Given the description of an element on the screen output the (x, y) to click on. 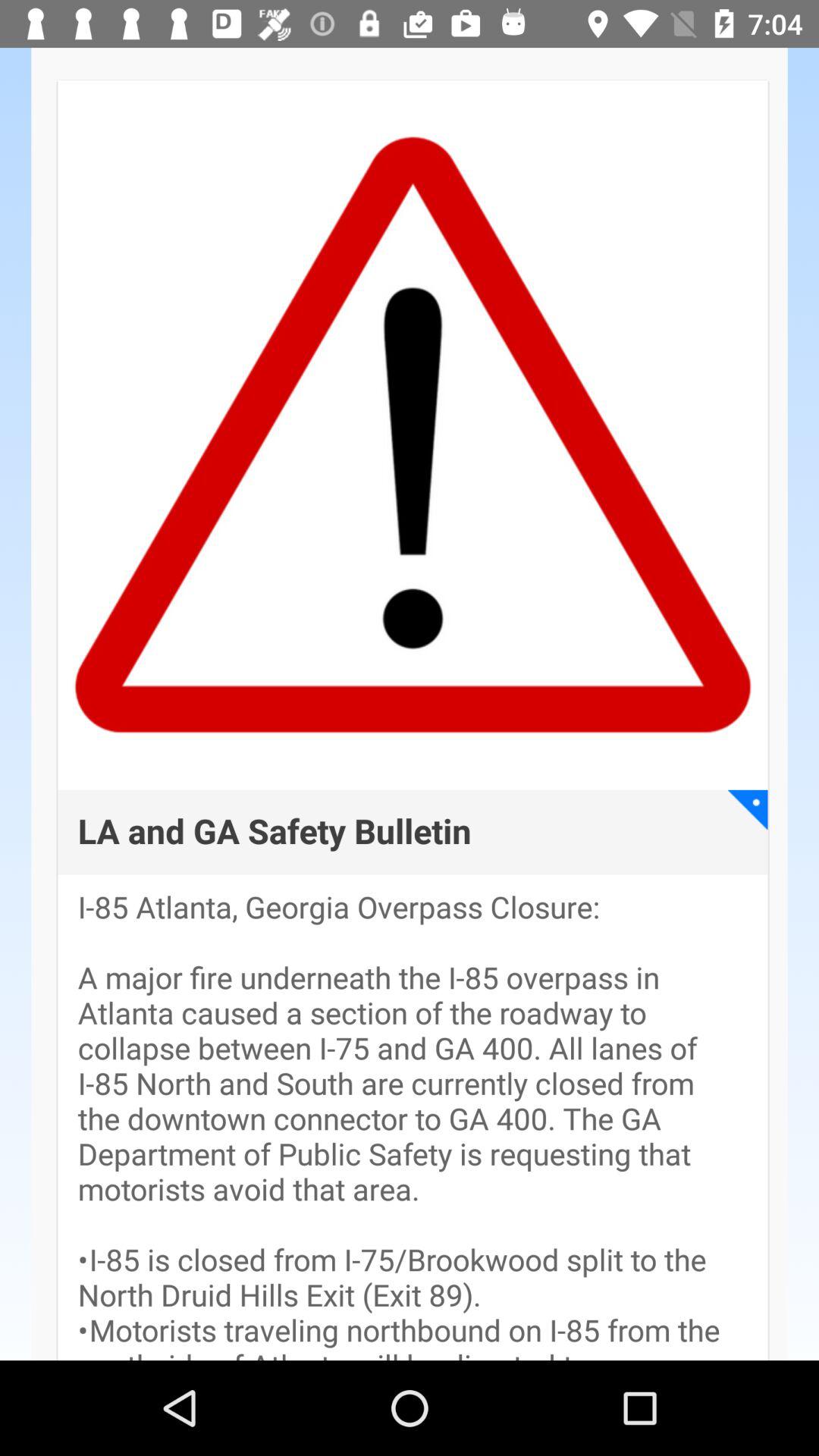
click the i 85 atlanta item (412, 1125)
